Given the description of an element on the screen output the (x, y) to click on. 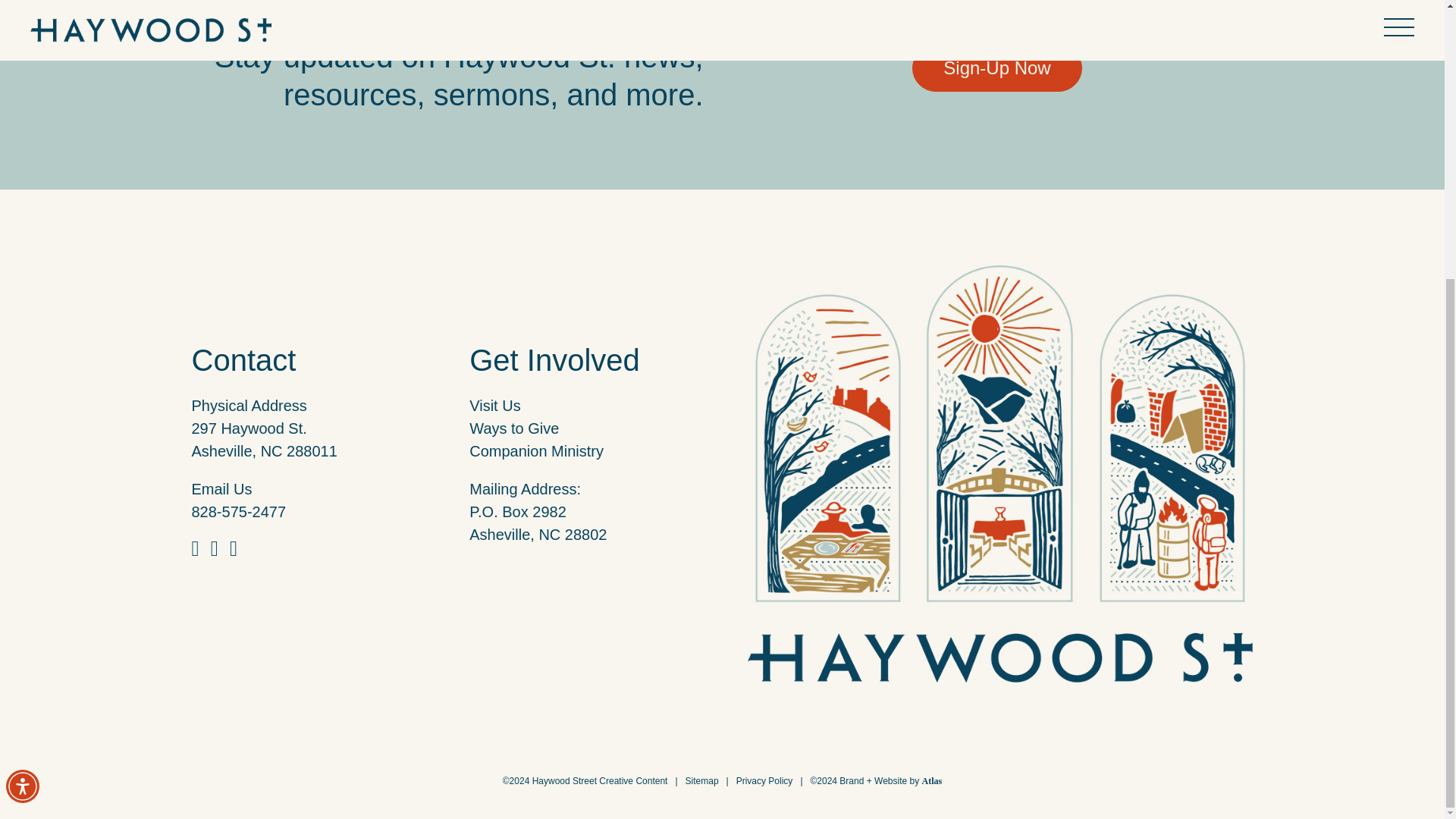
Asheville, NC 288011 (263, 451)
297 Haywood St. (247, 428)
Companion Ministry (536, 451)
Email Us (220, 488)
Visit Us (493, 405)
Atlas (931, 780)
828-575-2477 (237, 511)
Accessibility Menu (22, 370)
Sign-Up Now (996, 68)
Sitemap (702, 780)
Privacy Policy (764, 780)
Ways to Give (513, 428)
